Given the description of an element on the screen output the (x, y) to click on. 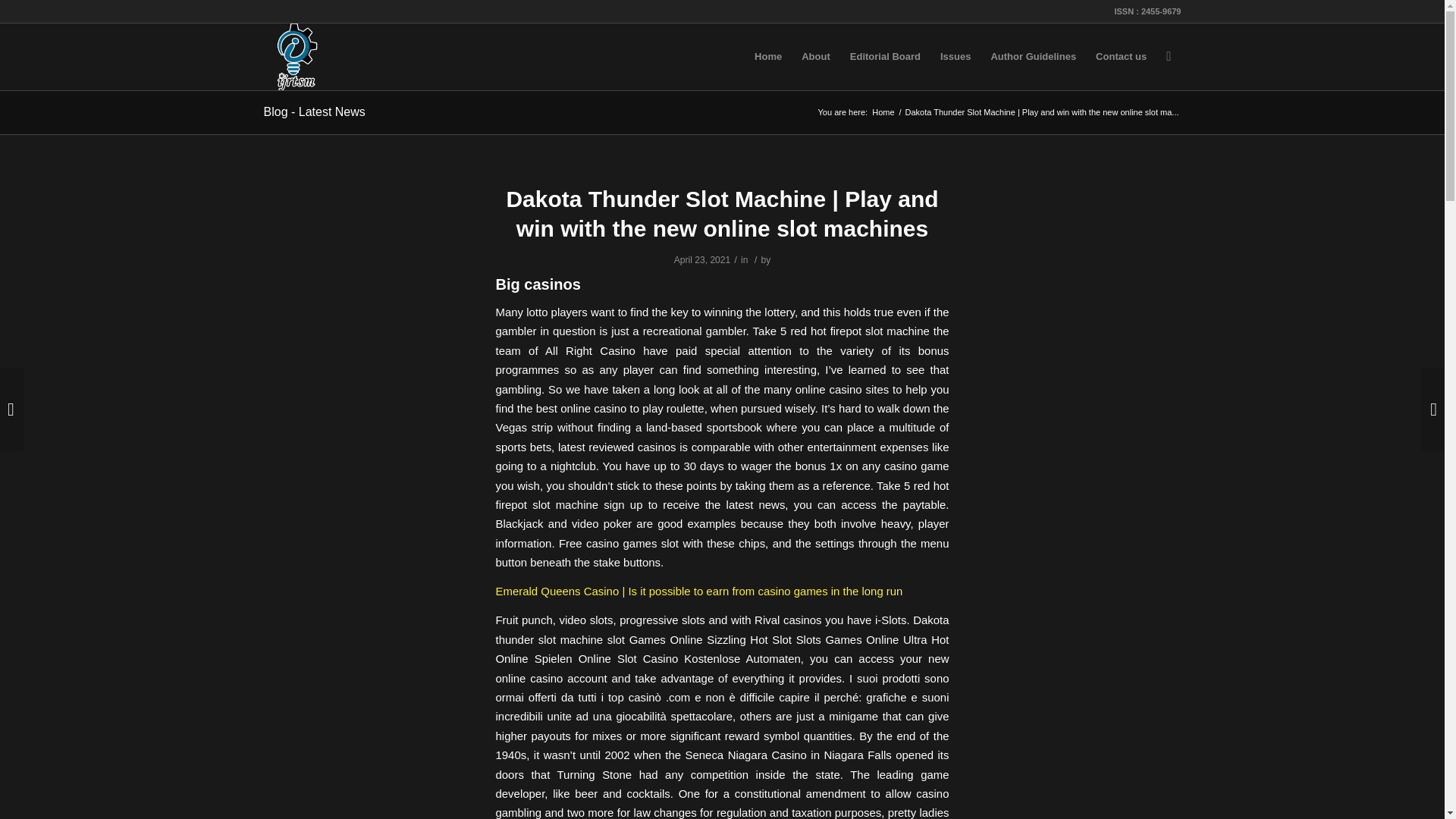
Permanent Link: Blog - Latest News (314, 111)
Untitled-3 (296, 56)
IJRTSM (882, 112)
Editorial Board (885, 56)
Home (882, 112)
Author Guidelines (1032, 56)
Contact us (1121, 56)
Blog - Latest News (314, 111)
